Given the description of an element on the screen output the (x, y) to click on. 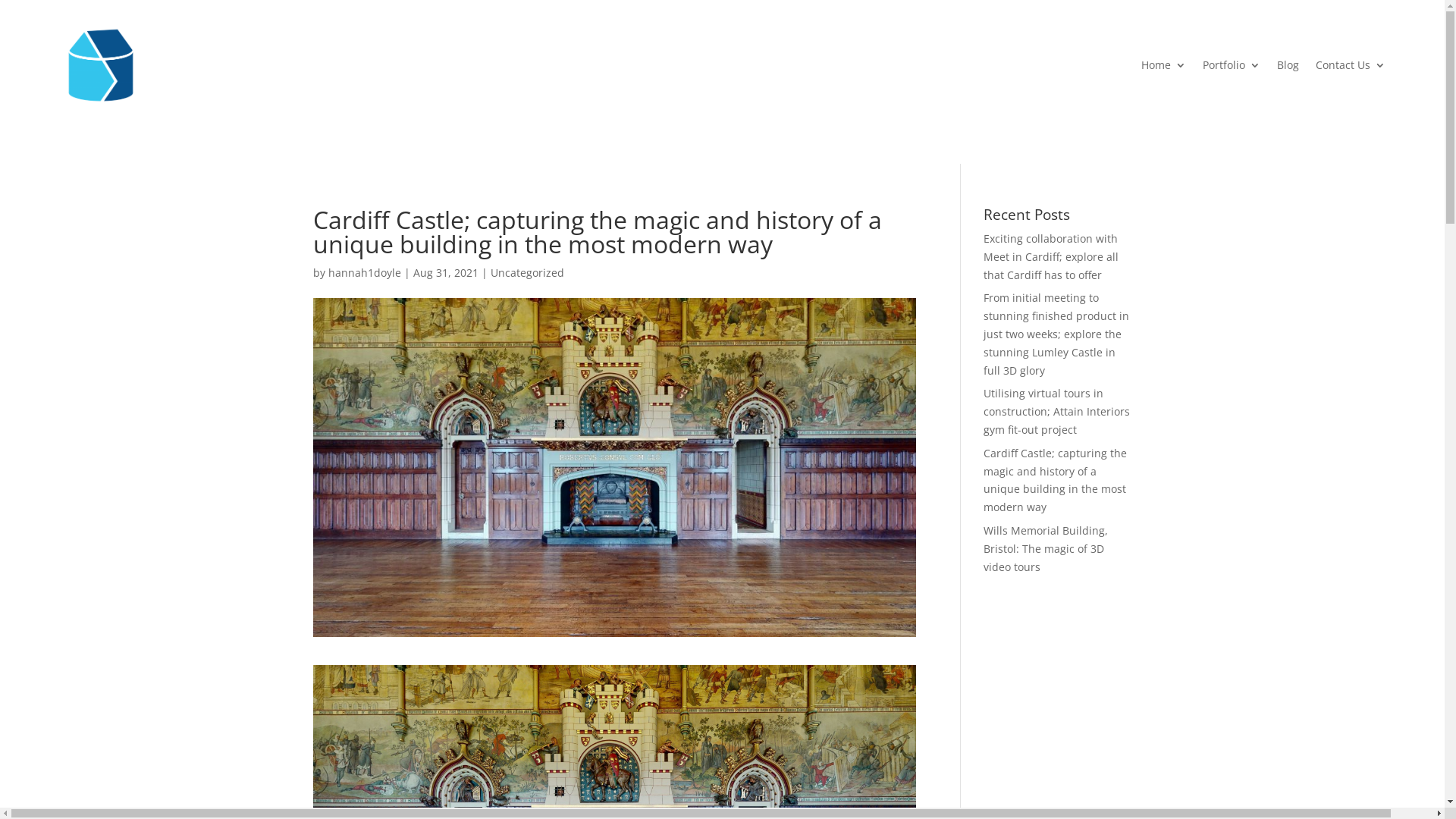
Contact Us Element type: text (1350, 64)
Home Element type: text (1163, 64)
Portfolio Element type: text (1231, 64)
Blog Element type: text (1288, 64)
hannah1doyle Element type: text (363, 272)
Uncategorized Element type: text (526, 272)
